Given the description of an element on the screen output the (x, y) to click on. 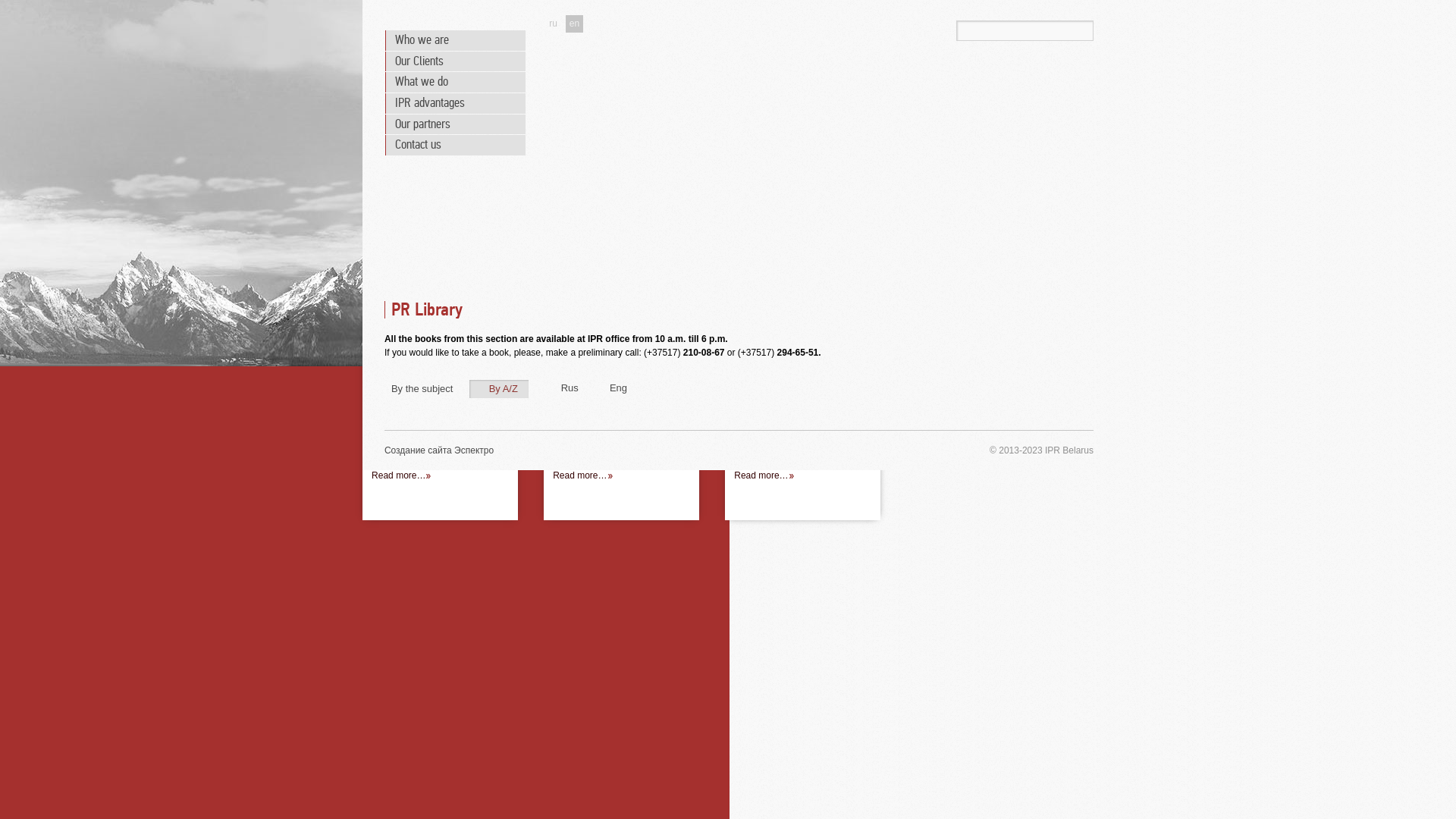
Who we are Element type: text (455, 40)
Rus Element type: text (564, 388)
By the subject Element type: text (424, 388)
Contact us Element type: text (455, 144)
What we do Element type: text (455, 82)
en Element type: text (574, 23)
By A/Z Element type: text (498, 388)
Our partners Element type: text (455, 124)
IPR advantages Element type: text (455, 103)
Our Clients Element type: text (455, 61)
ru Element type: text (552, 23)
Eng Element type: text (612, 388)
